Given the description of an element on the screen output the (x, y) to click on. 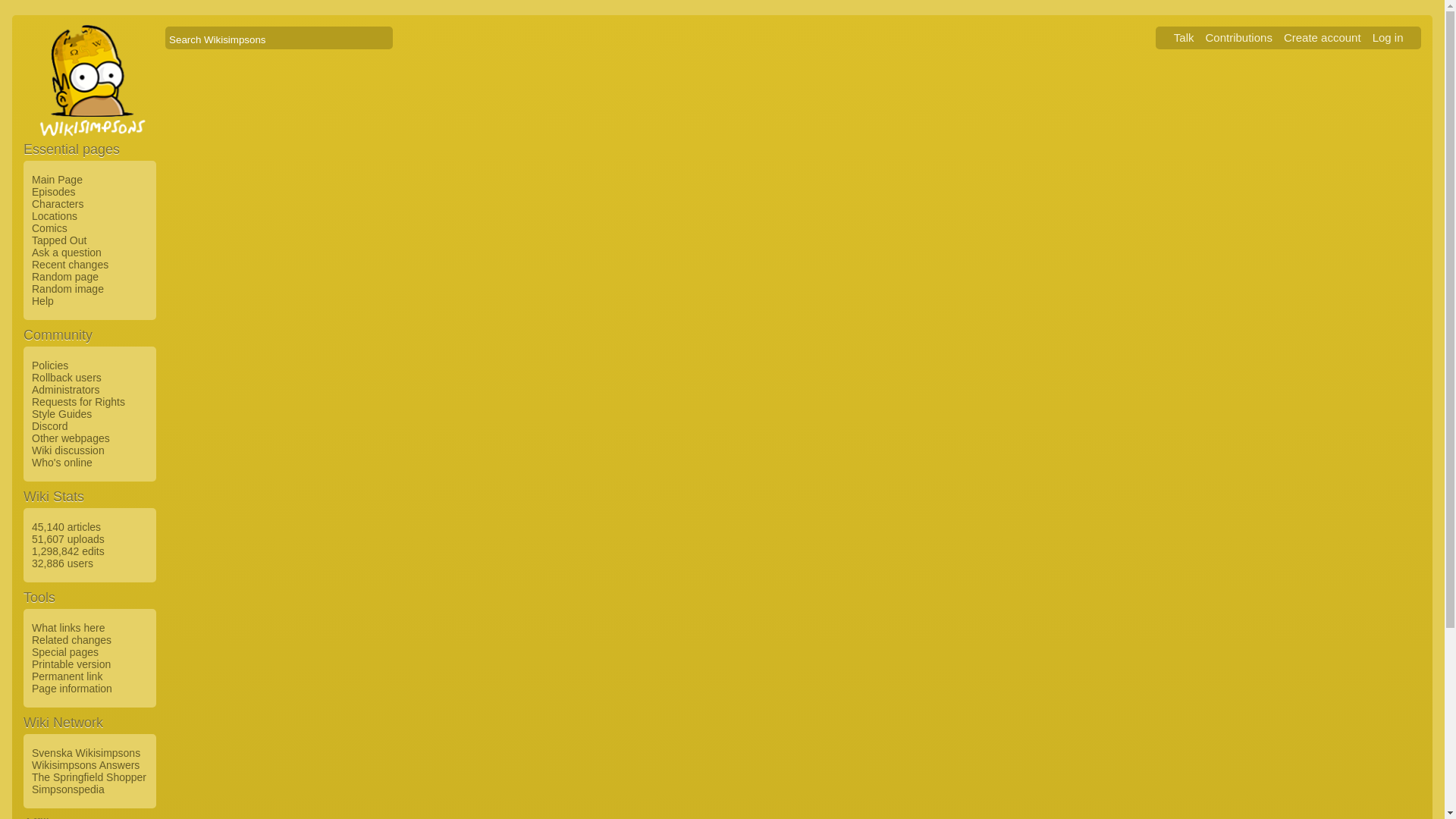
Policies (47, 365)
Log in (1388, 36)
Rollback users (64, 377)
Printable version (68, 664)
Simpsonspedia (65, 788)
Svenska Wikisimpsons (83, 752)
Wikisimpsons Answers (83, 765)
Permanent link (64, 676)
More information about this page (69, 688)
Random page (63, 276)
Who's online (60, 462)
Permanent link to this revision of the page (64, 676)
Tapped Out (56, 240)
Random image (65, 288)
